Given the description of an element on the screen output the (x, y) to click on. 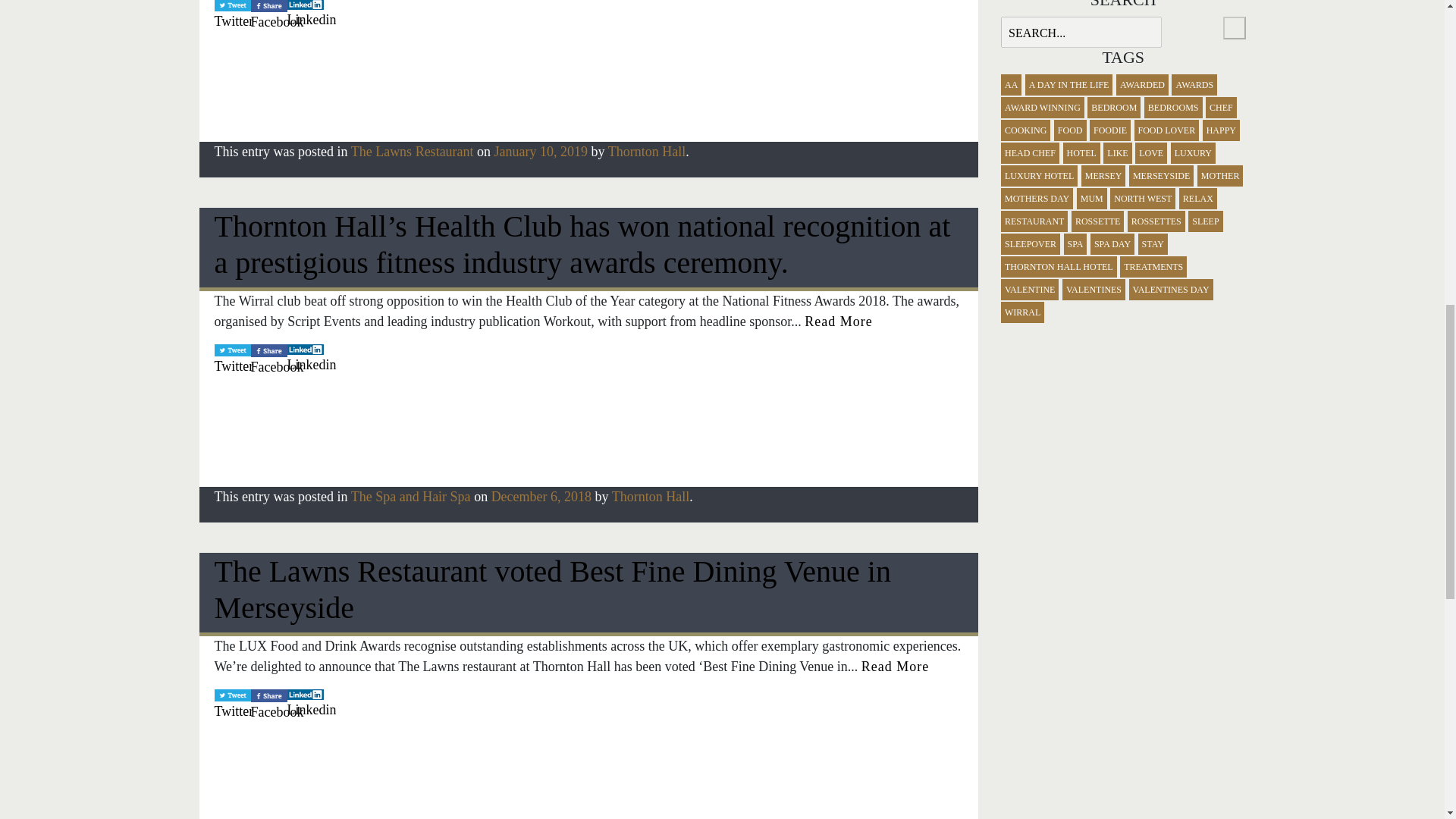
View all posts by Thornton Hall (646, 151)
Linkedin (304, 361)
Linkedin (304, 15)
Search (1233, 27)
linkedin (304, 4)
Twitter (232, 15)
Facebook (268, 16)
Facebook (268, 361)
December 6, 2018 (541, 496)
11:31 am (541, 151)
facebook (268, 6)
The Spa and Hair Spa (410, 496)
Facebook (268, 18)
twitter (232, 349)
Twitter (232, 18)
